Given the description of an element on the screen output the (x, y) to click on. 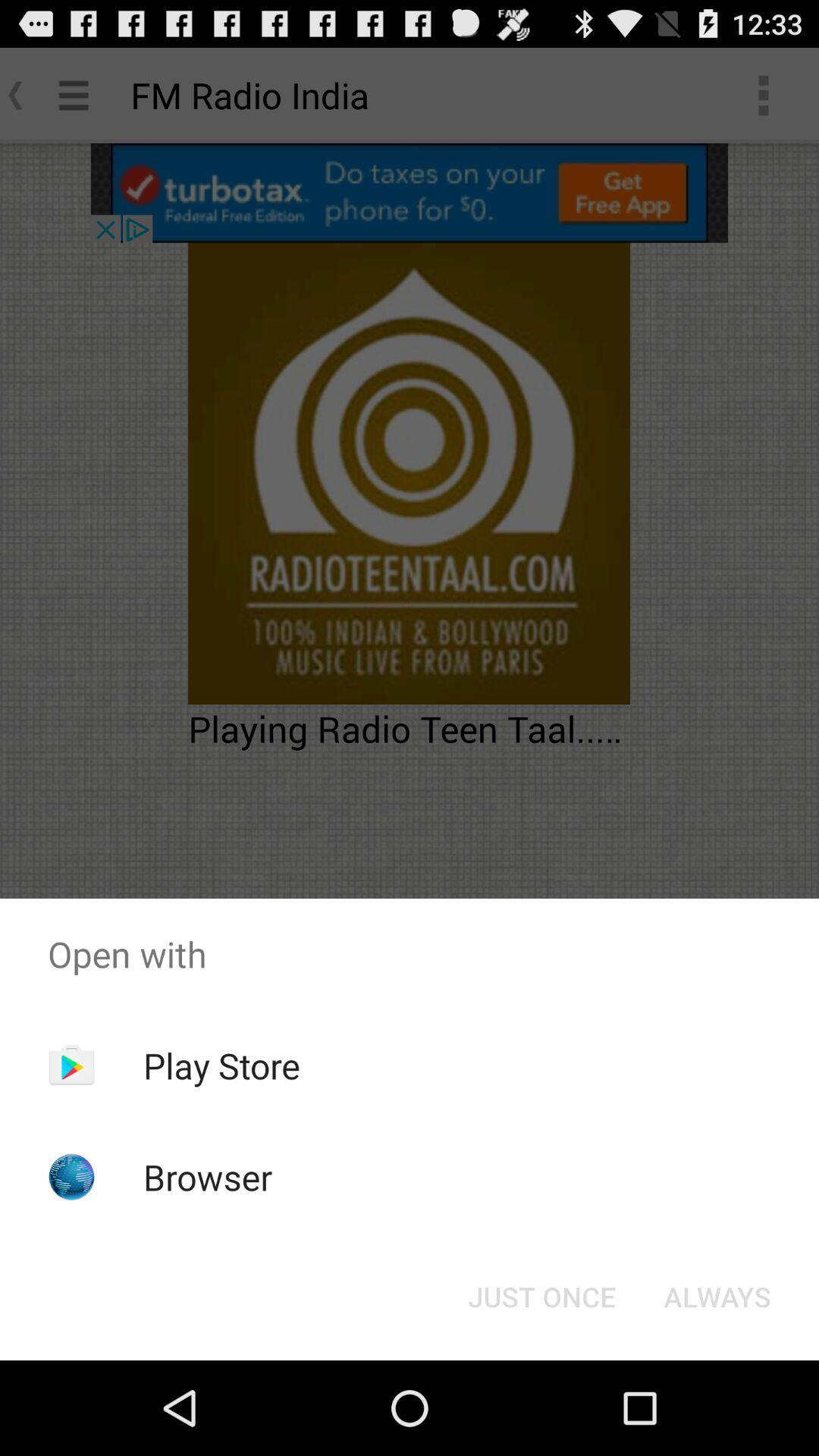
jump until the just once item (541, 1296)
